Given the description of an element on the screen output the (x, y) to click on. 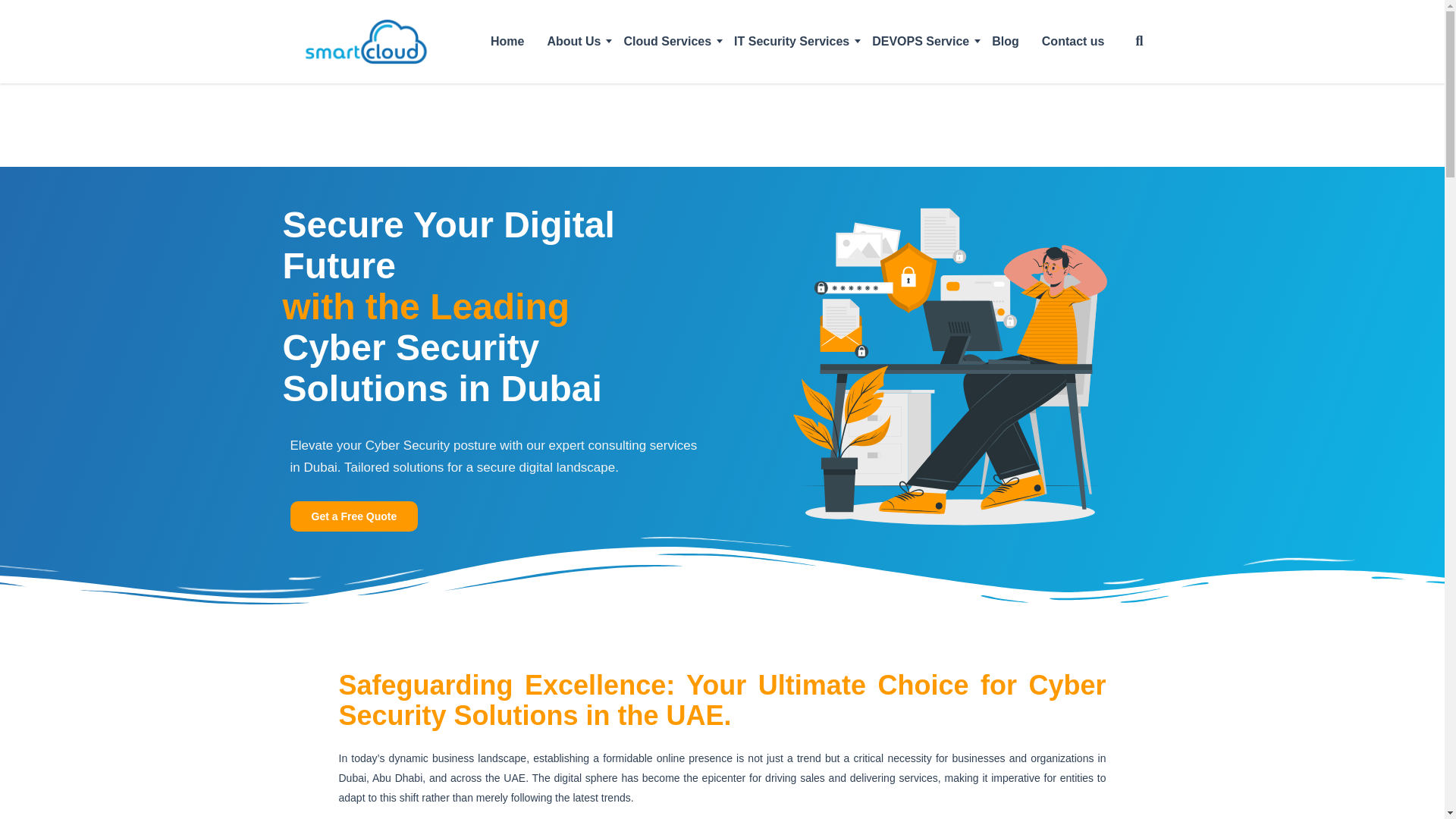
Contact us (1073, 41)
Home (507, 41)
DEVOPS Service (919, 41)
About Us (573, 41)
Cloud Services (666, 41)
Get a Free Quote (353, 515)
IT Security Services (791, 41)
Blog (1004, 41)
